Given the description of an element on the screen output the (x, y) to click on. 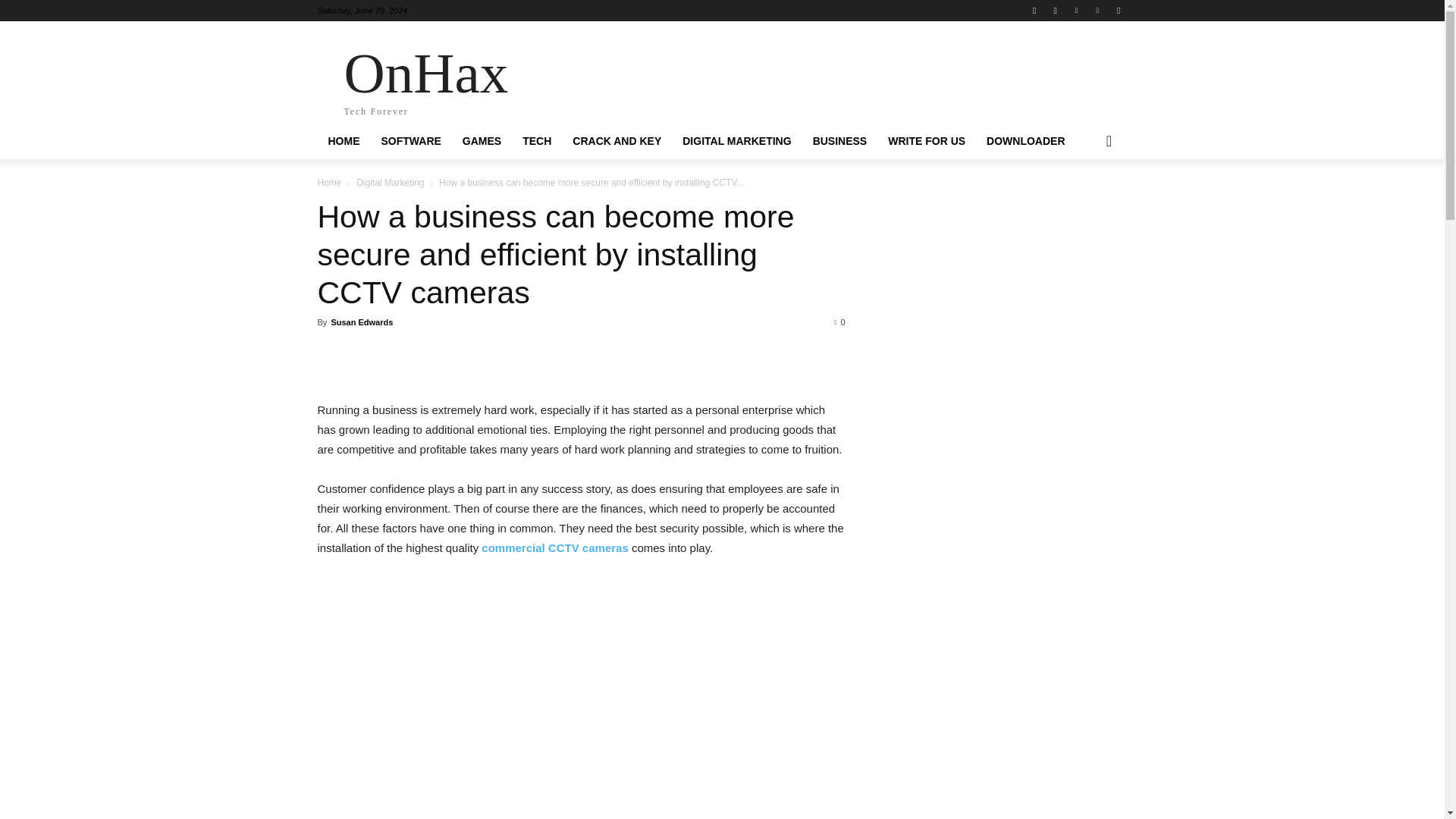
SOFTWARE (410, 140)
BUSINESS (425, 79)
CRACK AND KEY (839, 140)
DOWNLOADER (616, 140)
GAMES (1025, 140)
TECH (481, 140)
DIGITAL MARKETING (537, 140)
View all posts in Digital Marketing (736, 140)
HOME (389, 182)
WRITE FOR US (343, 140)
